Given the description of an element on the screen output the (x, y) to click on. 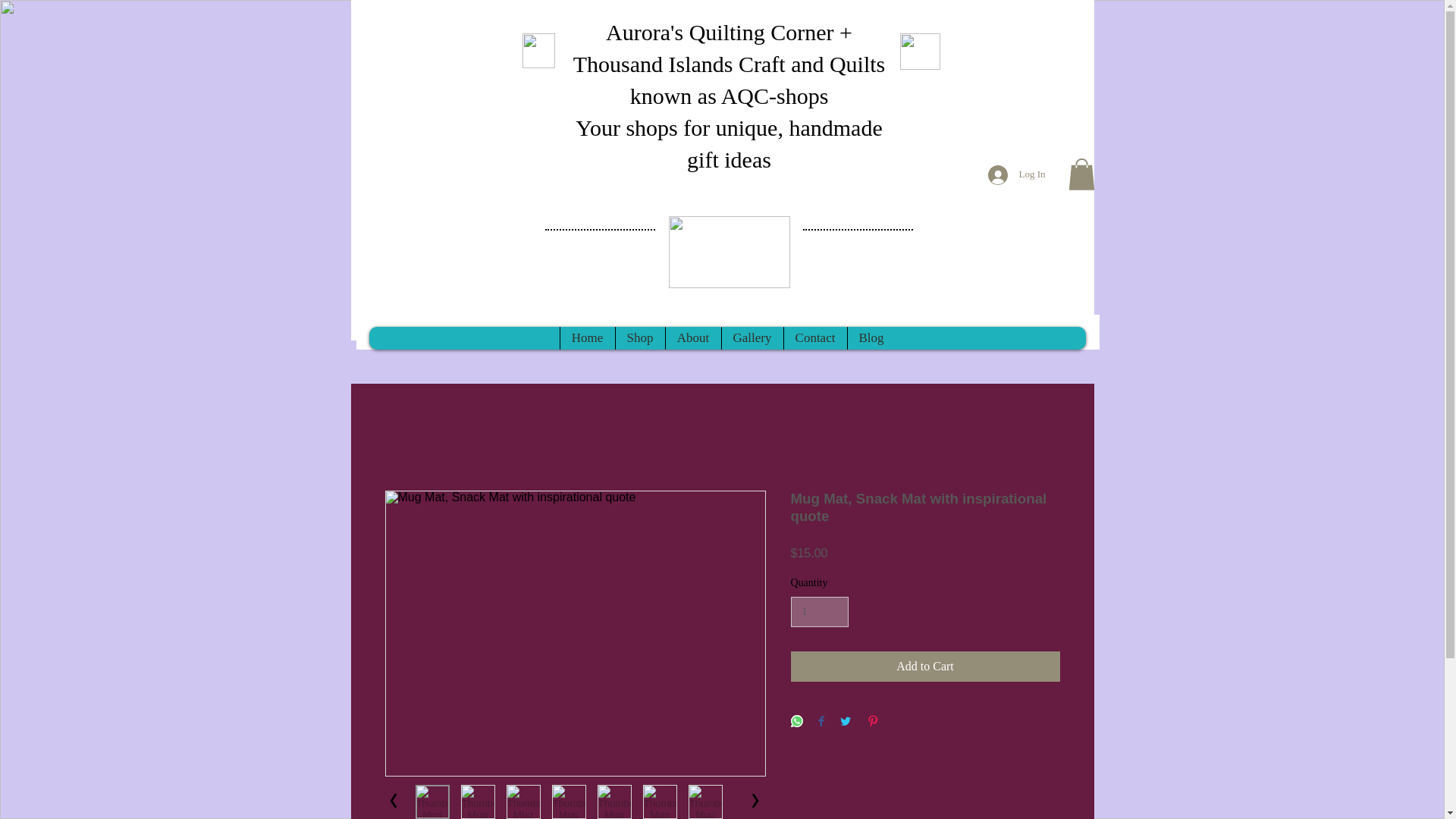
Add to Cart (924, 666)
Contact (814, 337)
Gallery (751, 337)
Shop (638, 337)
1 (818, 612)
Blog (870, 337)
Home (586, 337)
About (691, 337)
Log In (1015, 174)
